Given the description of an element on the screen output the (x, y) to click on. 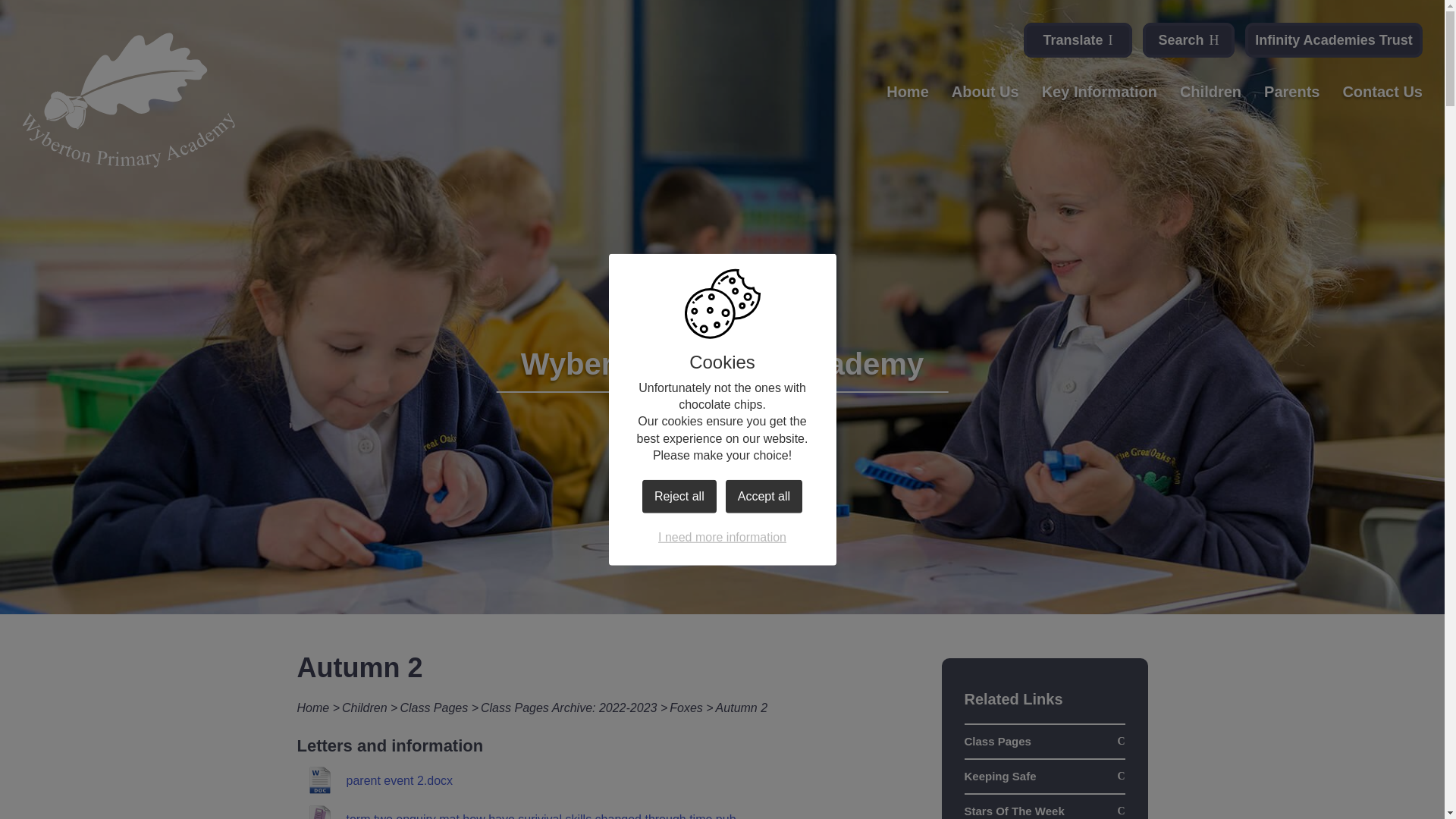
Infinity Academies Trust (1333, 39)
Home Page (128, 99)
Key Information (1099, 98)
About Us (985, 98)
Home (907, 98)
